Given the description of an element on the screen output the (x, y) to click on. 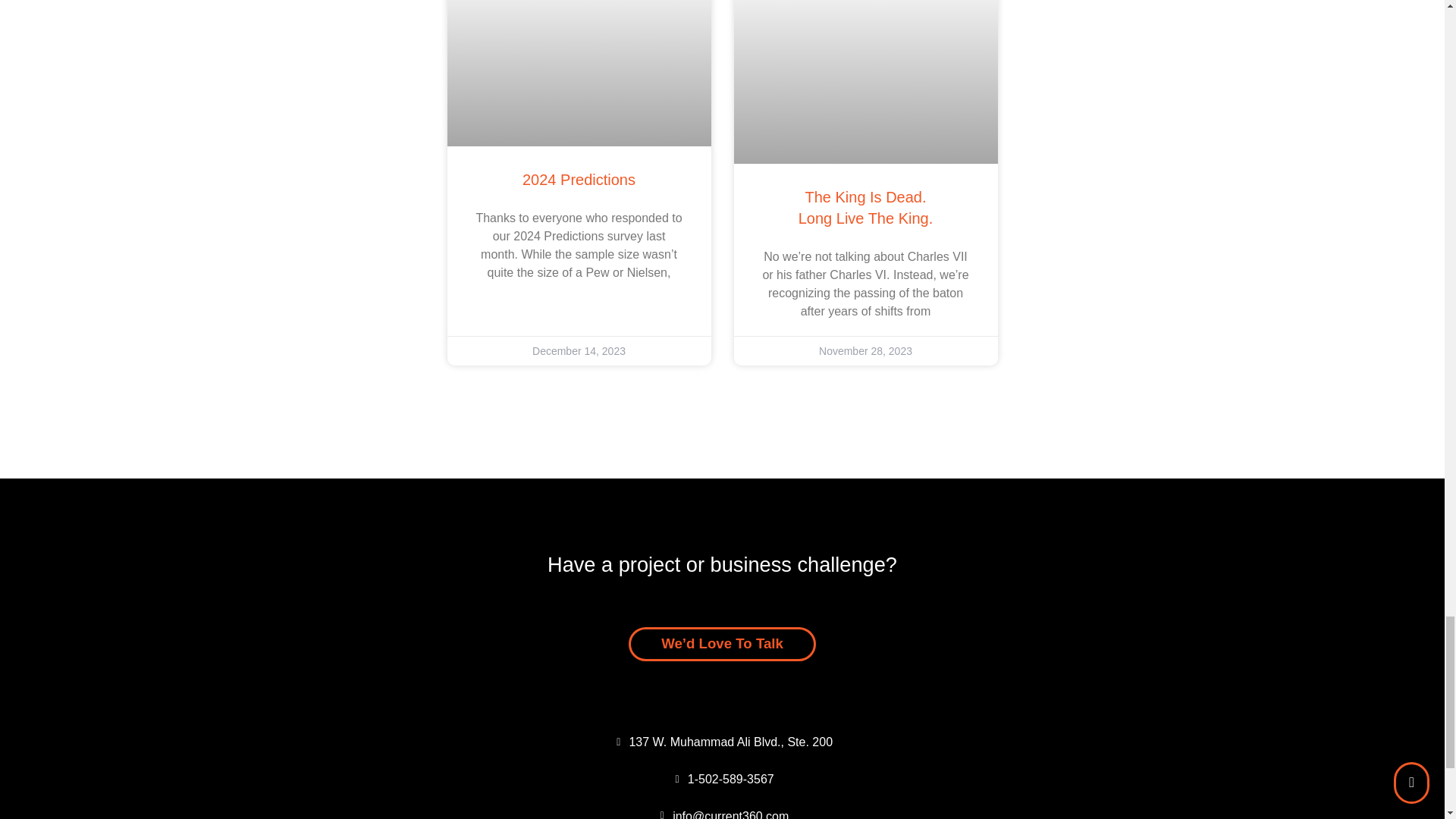
1-502-589-3567 (722, 779)
2024 Predictions (865, 207)
